Given the description of an element on the screen output the (x, y) to click on. 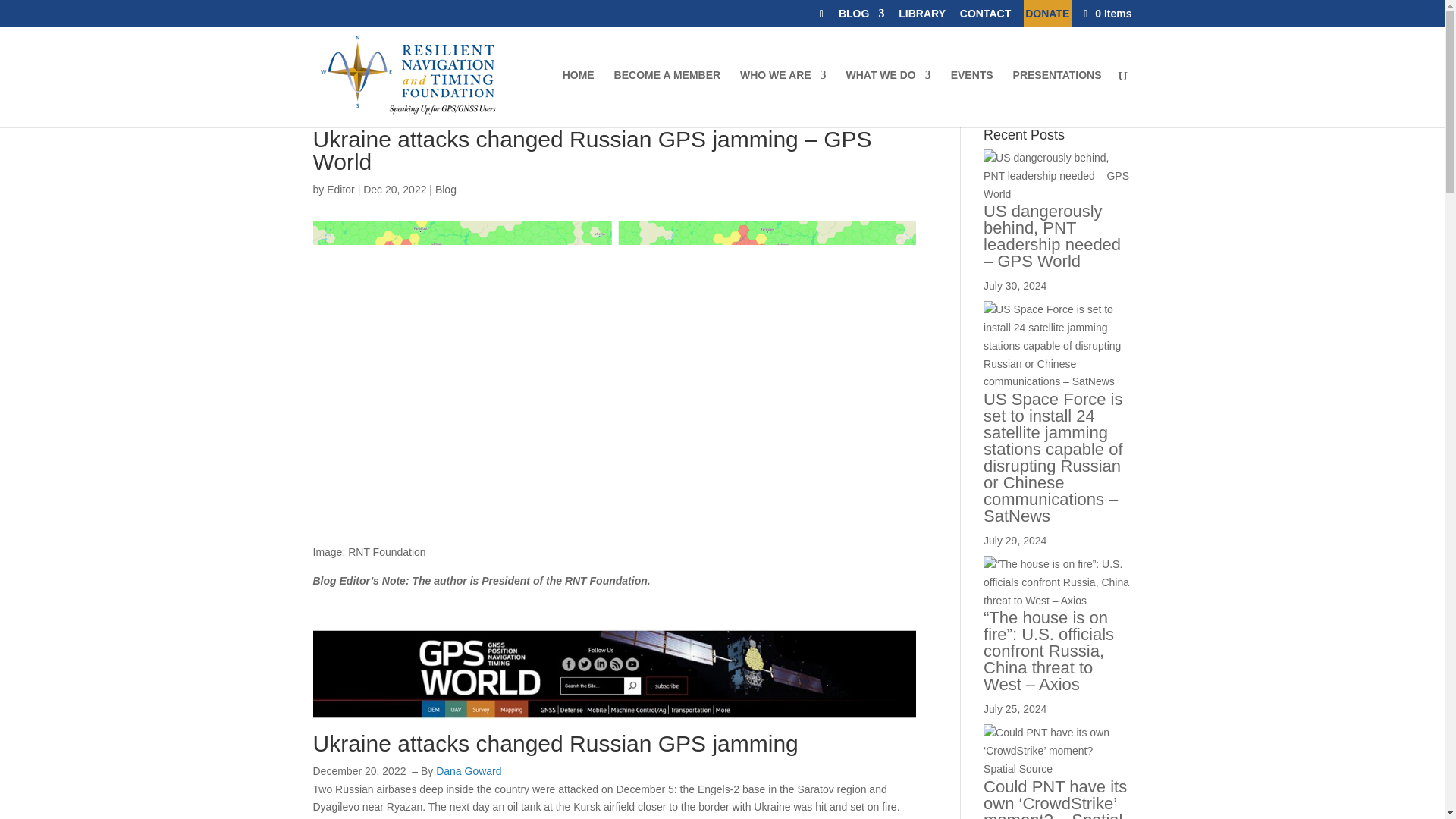
0 Items (1105, 13)
Blog (446, 189)
BECOME A MEMBER (667, 98)
WHO WE ARE (783, 98)
DONATE (1046, 16)
BLOG (860, 16)
Posts by Editor (340, 189)
Ukraine attacks changed Russian GPS jamming (555, 743)
CONTACT (984, 16)
Posts by Dana Goward (467, 770)
